Given the description of an element on the screen output the (x, y) to click on. 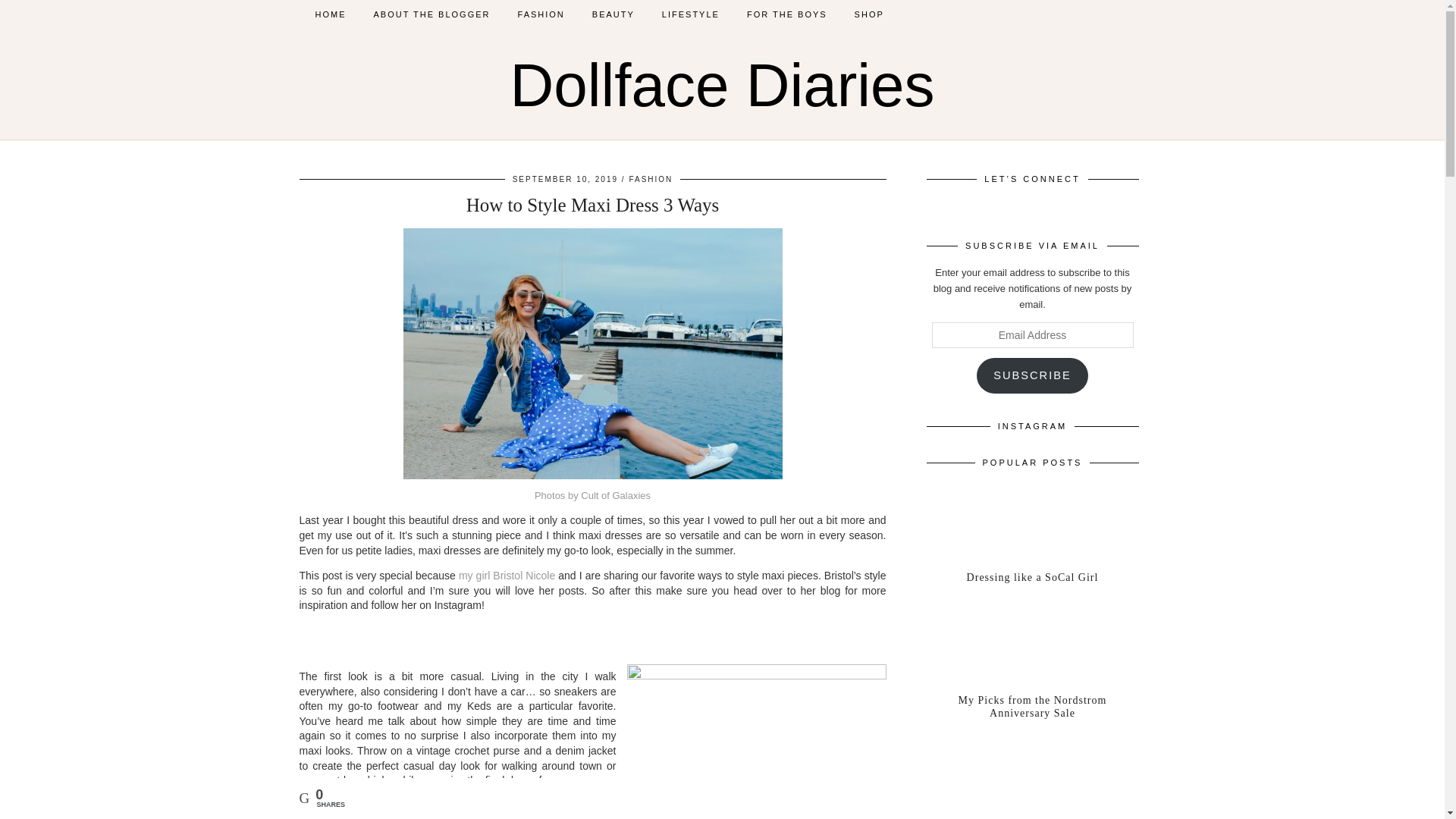
ABOUT THE BLOGGER (431, 14)
Dollface Diaries (721, 84)
Dollface Diaries (721, 84)
HOME (330, 14)
FASHION (540, 14)
